Given the description of an element on the screen output the (x, y) to click on. 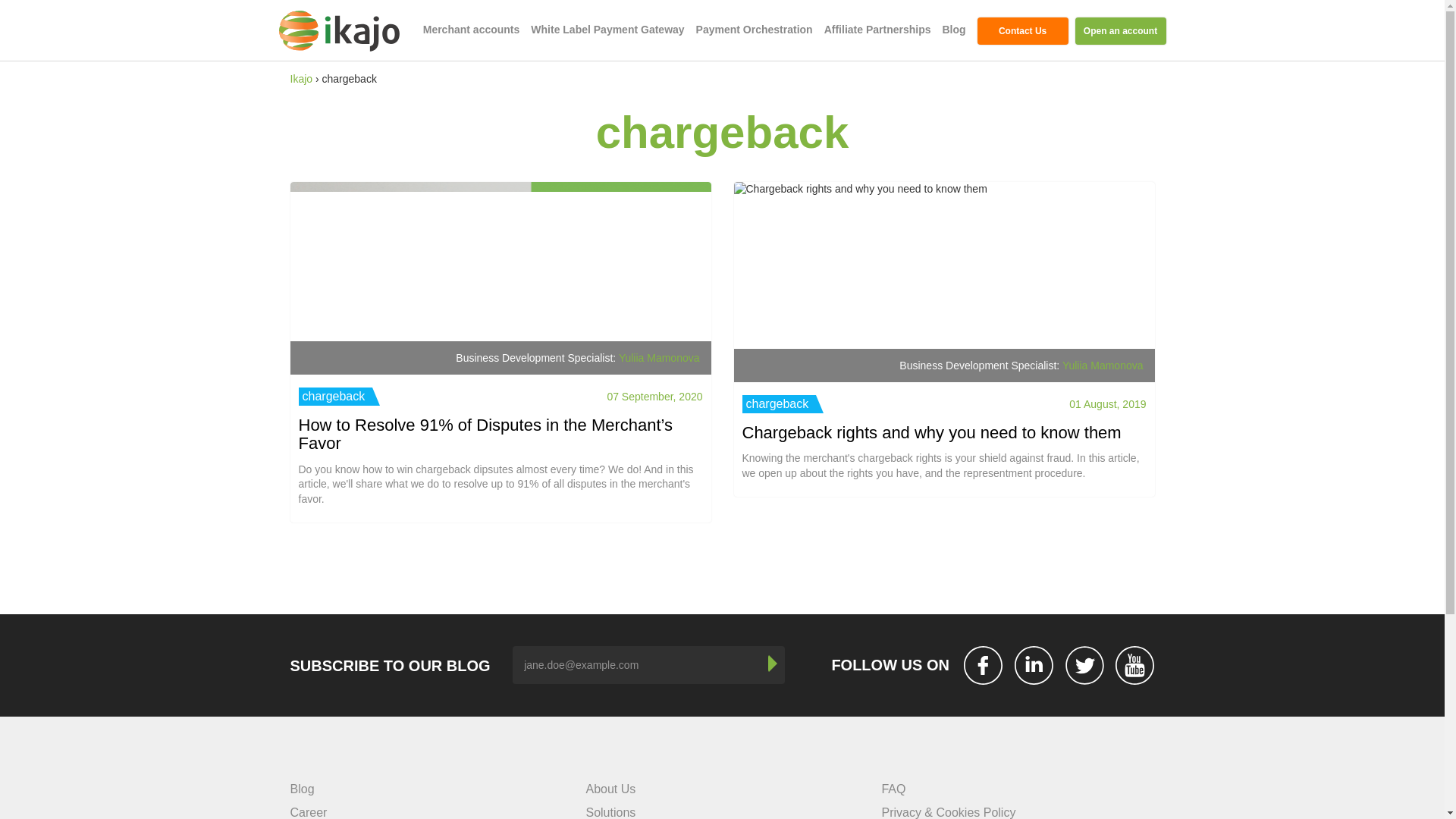
Blog (301, 788)
Career (307, 812)
Ikajo (301, 78)
Payment Orchestration (753, 30)
Blog (953, 30)
Merchant accounts (471, 30)
Affiliate Partnerships (877, 30)
Career (307, 812)
Solutions (609, 812)
Affiliate Partnerships (877, 30)
Yuliia Mamonova (659, 357)
White Label Payment Gateway (607, 30)
White Label Payment Gateway (607, 30)
Blog (953, 30)
chargeback (339, 396)
